Given the description of an element on the screen output the (x, y) to click on. 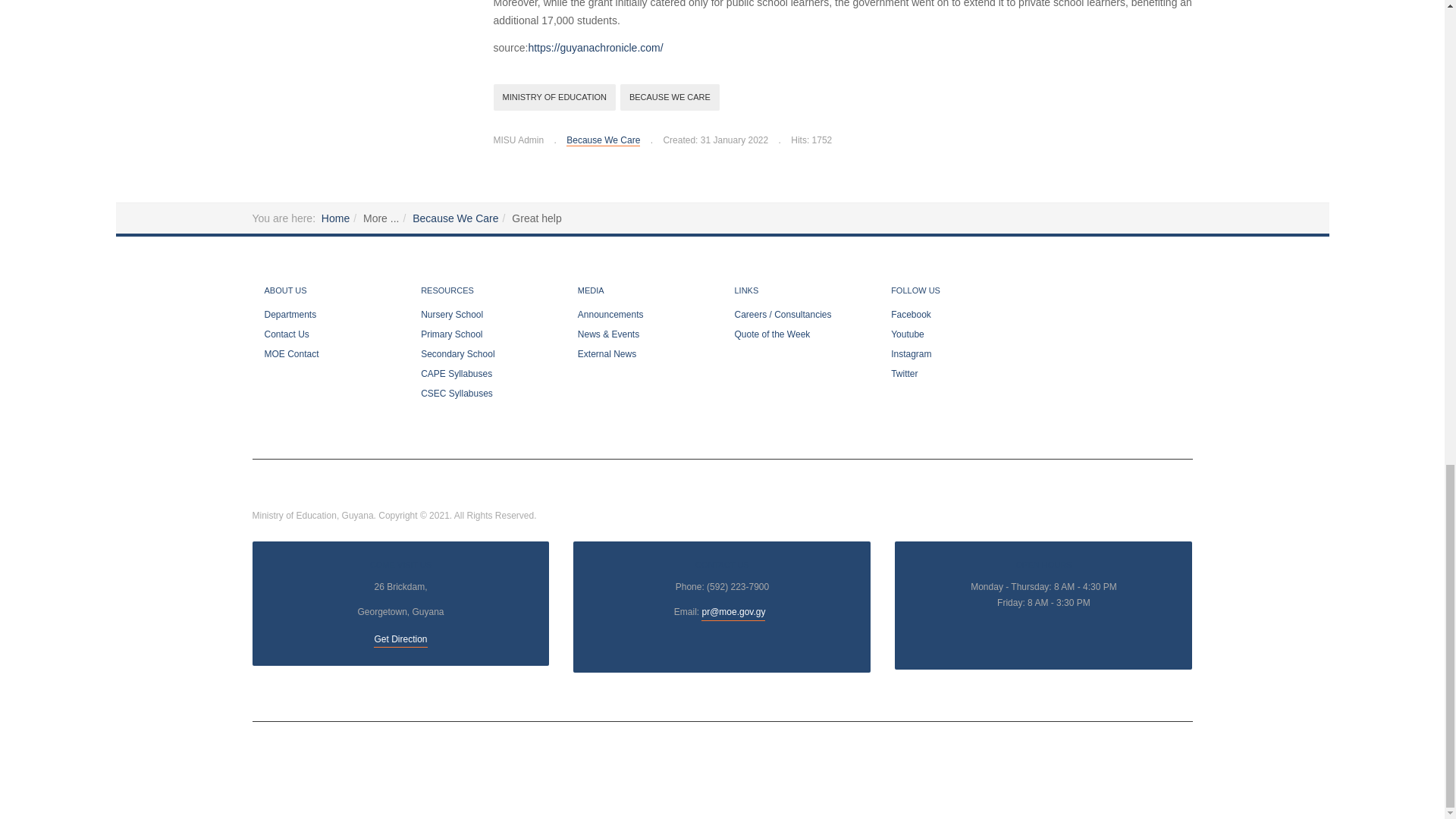
Get Direction (400, 639)
Category:  (597, 140)
Written by  (518, 140)
Contact Us (733, 612)
